Given the description of an element on the screen output the (x, y) to click on. 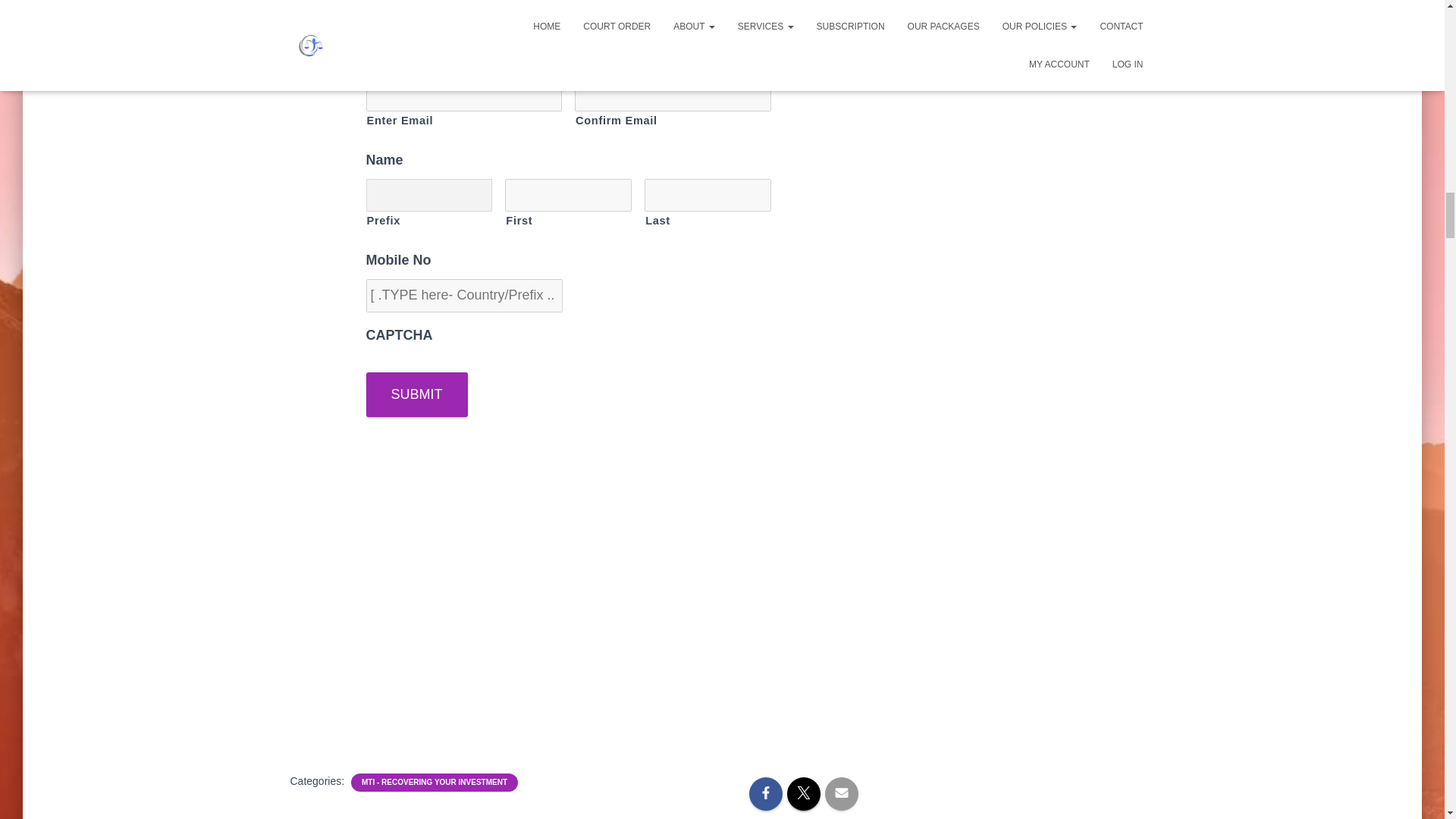
Submit (416, 394)
